Given the description of an element on the screen output the (x, y) to click on. 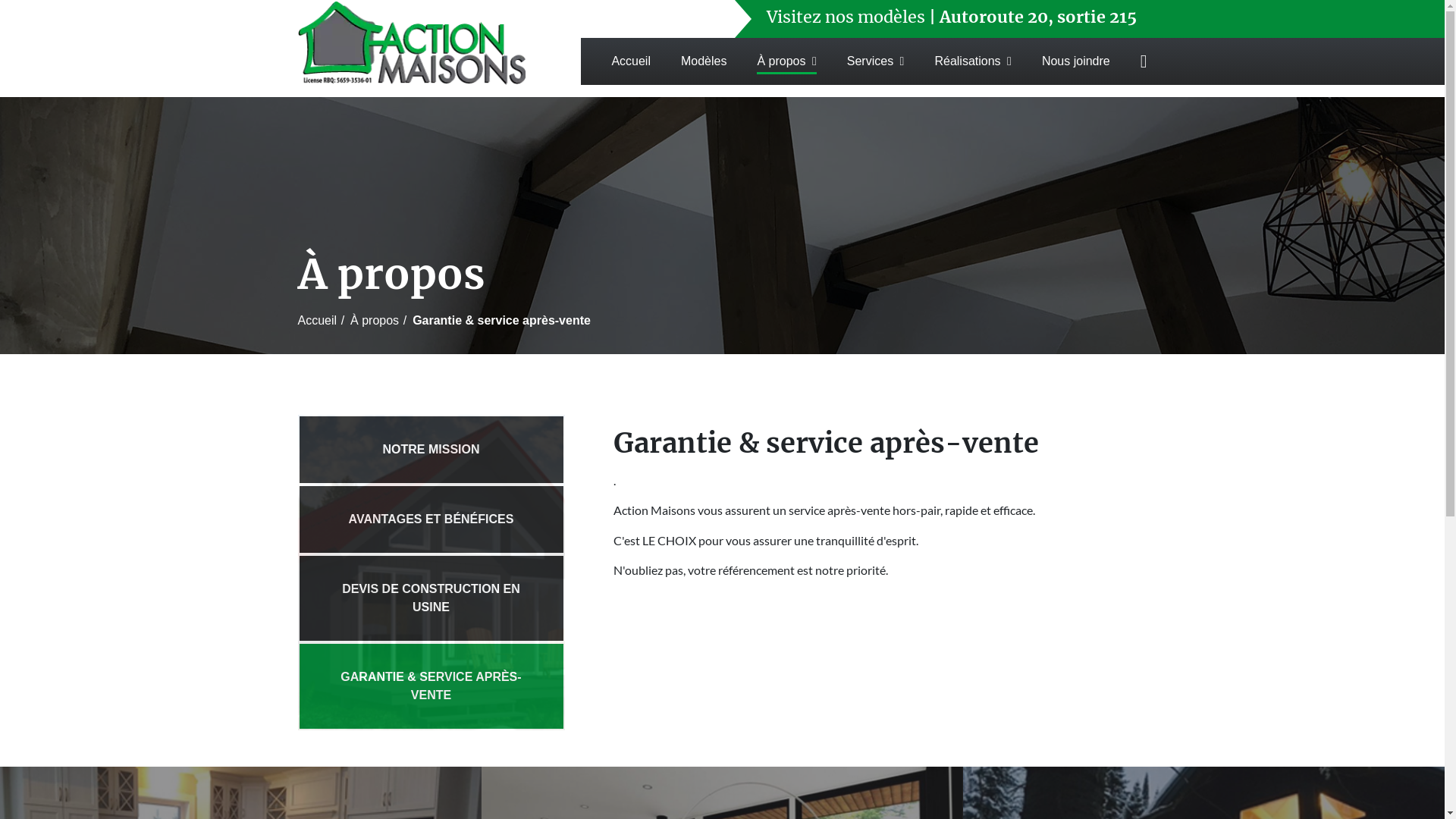
Accueil Element type: text (630, 61)
Services Element type: text (875, 61)
Accueil Element type: text (316, 320)
DEVIS DE CONSTRUCTION EN USINE Element type: text (430, 598)
Nous joindre Element type: text (1075, 61)
Facebook Element type: text (1143, 60)
NOTRE MISSION Element type: text (430, 449)
